Given the description of an element on the screen output the (x, y) to click on. 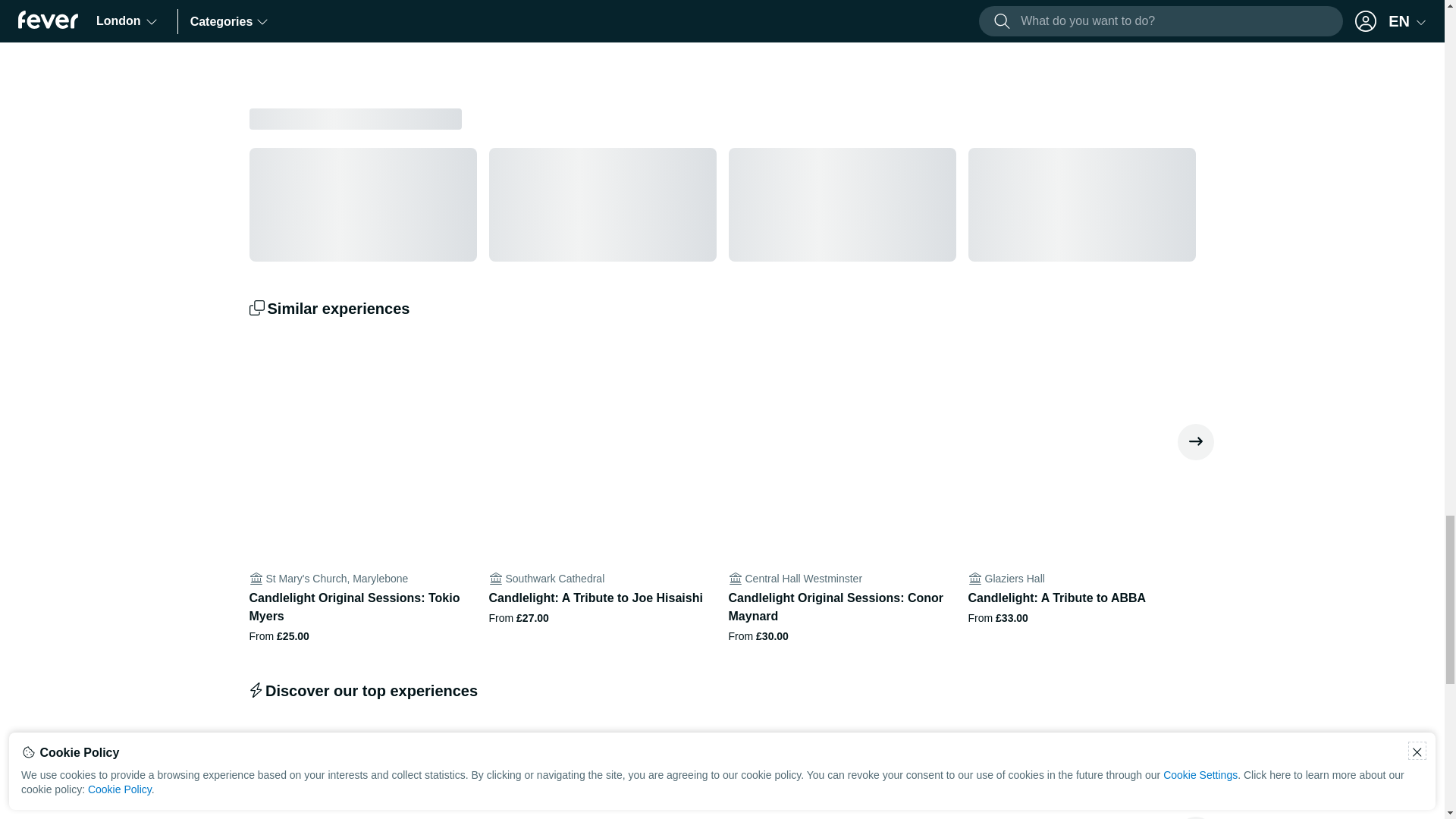
PULSE: Beyond Delight - Borough Yards (1081, 769)
Moco Museum London - Moco Museum London (362, 769)
